Given the description of an element on the screen output the (x, y) to click on. 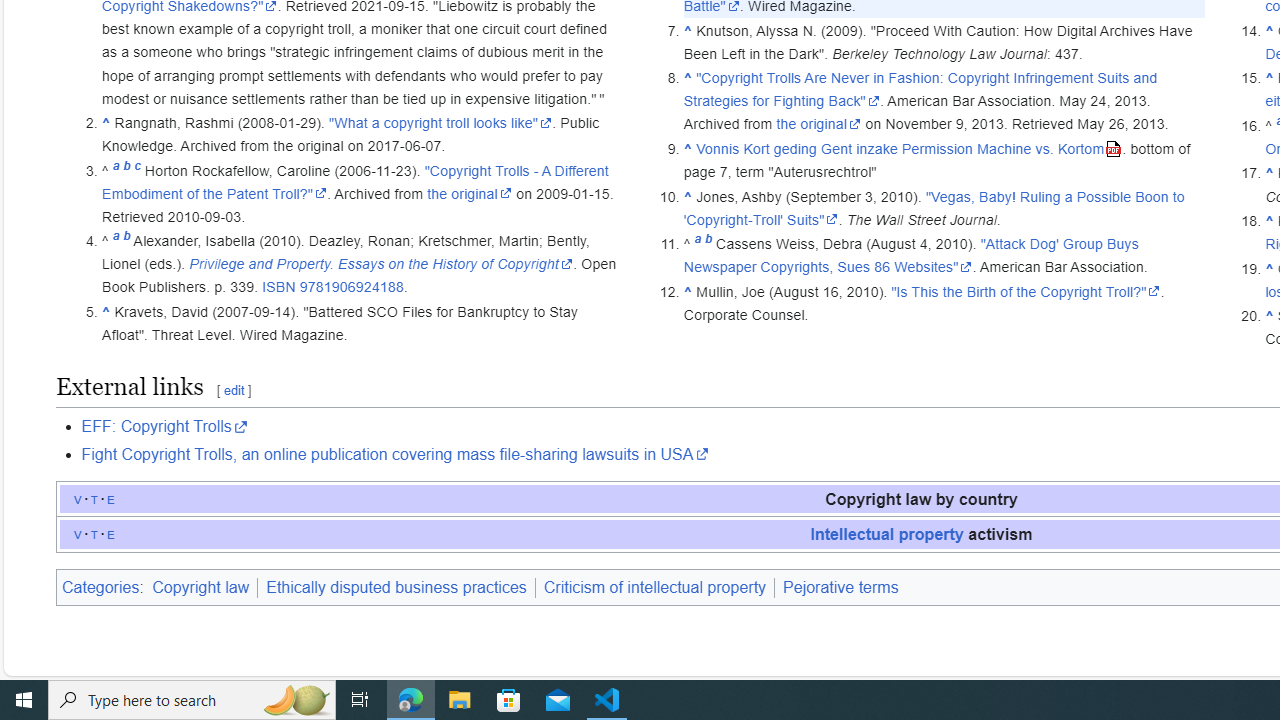
ISBN (278, 287)
Copyright law (200, 587)
Ethically disputed business practices (396, 587)
9781906924188 (351, 287)
"Is This the Birth of the Copyright Troll?" (1025, 291)
Copyright law (203, 587)
b (707, 244)
t (93, 533)
c (137, 170)
Jump up (1268, 316)
